Given the description of an element on the screen output the (x, y) to click on. 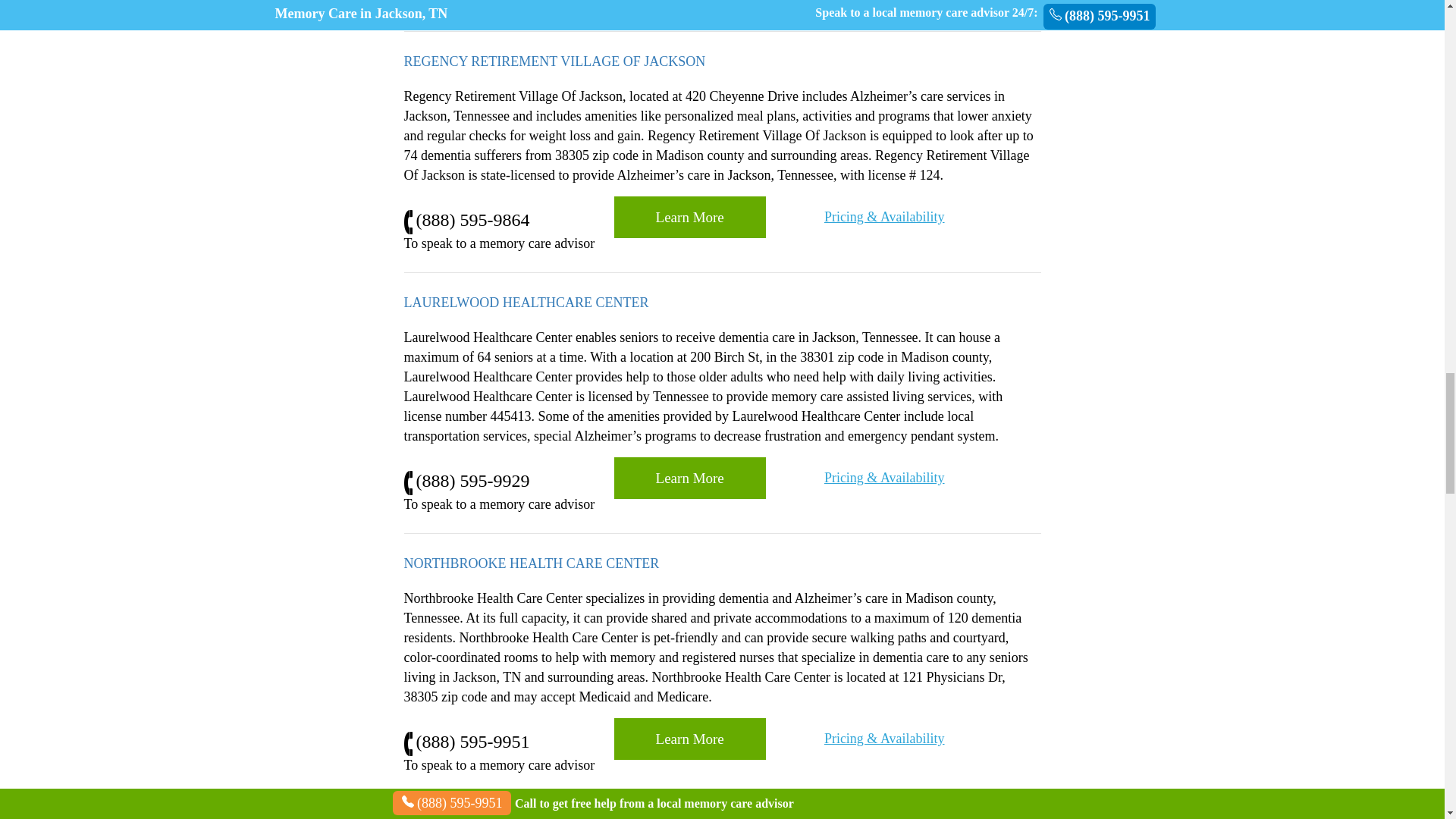
Learn More (689, 217)
Learn More (689, 739)
Learn More (689, 477)
